Given the description of an element on the screen output the (x, y) to click on. 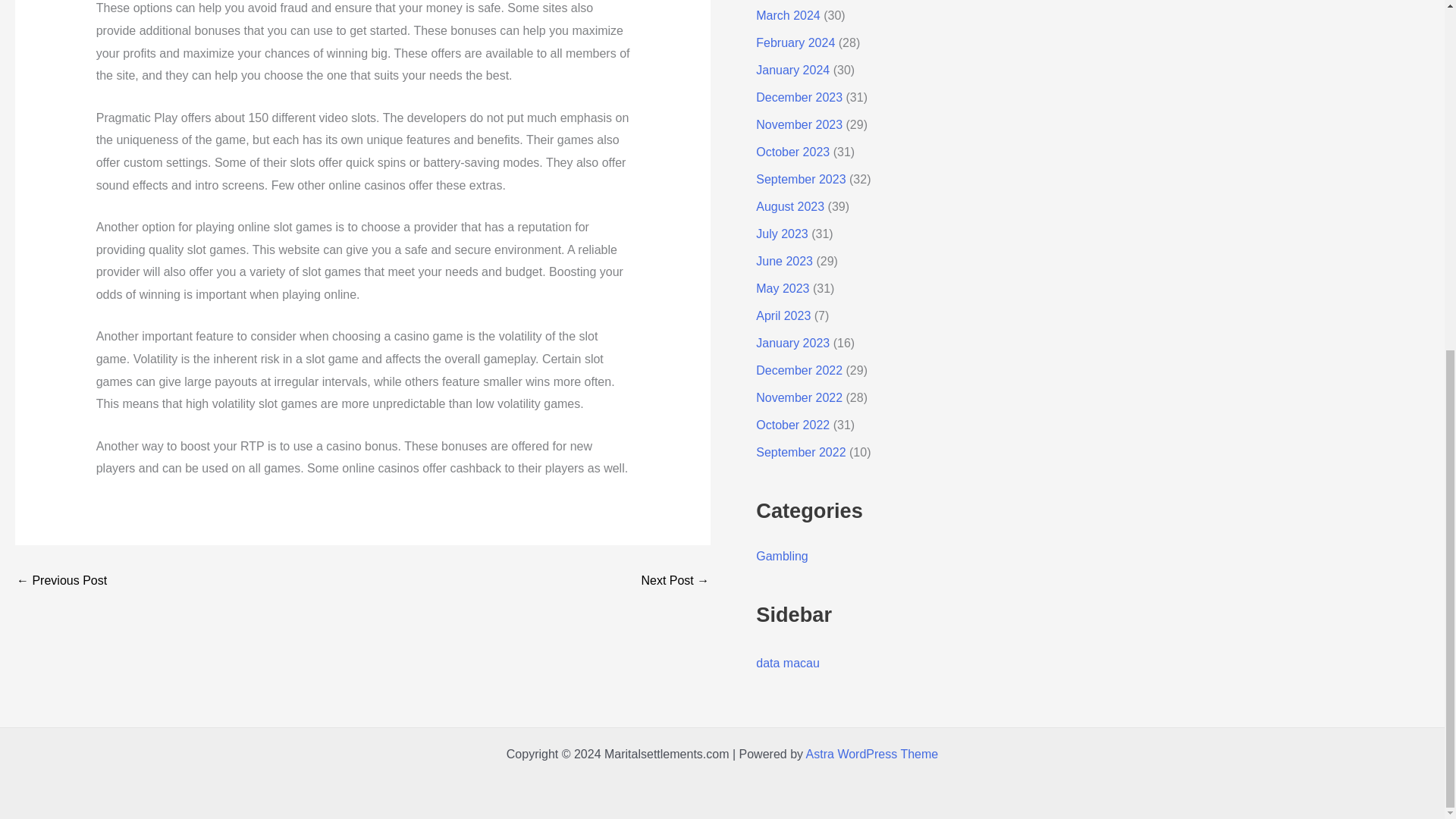
Advantages of Playing Poker Online (674, 580)
January 2023 (792, 342)
January 2024 (792, 69)
October 2022 (792, 424)
March 2024 (788, 15)
August 2023 (789, 205)
Gambling (781, 555)
September 2023 (800, 178)
September 2022 (800, 451)
December 2023 (799, 97)
